Given the description of an element on the screen output the (x, y) to click on. 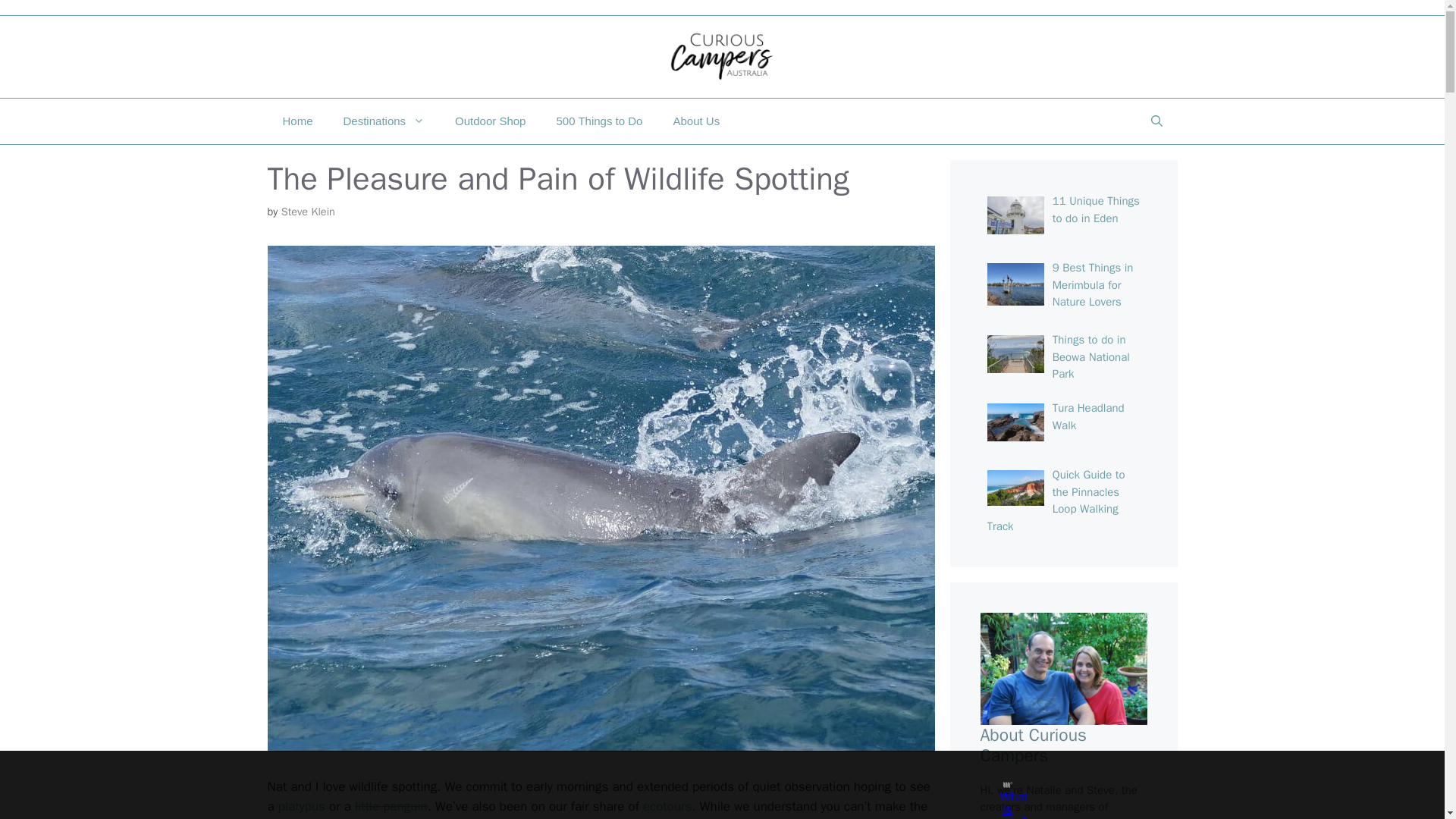
Outdoor Shop (489, 121)
Home (296, 121)
platypus (301, 806)
3rd party ad content (708, 785)
500 Things to Do (599, 121)
Destinations (385, 121)
About Us (696, 121)
little penguin (391, 806)
Steve Klein (307, 211)
View all posts by Steve Klein (307, 211)
